Given the description of an element on the screen output the (x, y) to click on. 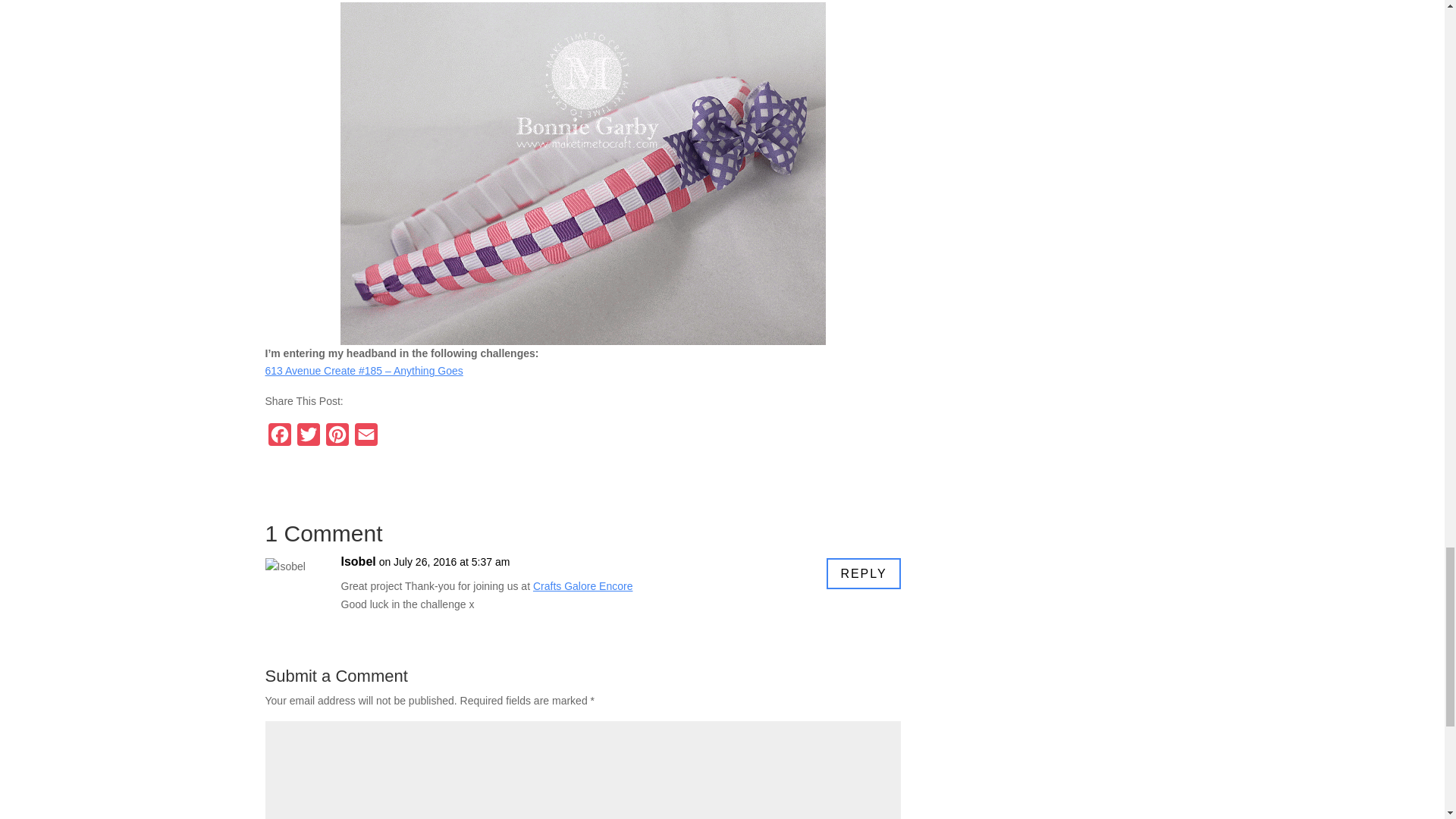
Facebook (279, 438)
Twitter (308, 438)
Pinterest (337, 438)
Email (366, 438)
